Given the description of an element on the screen output the (x, y) to click on. 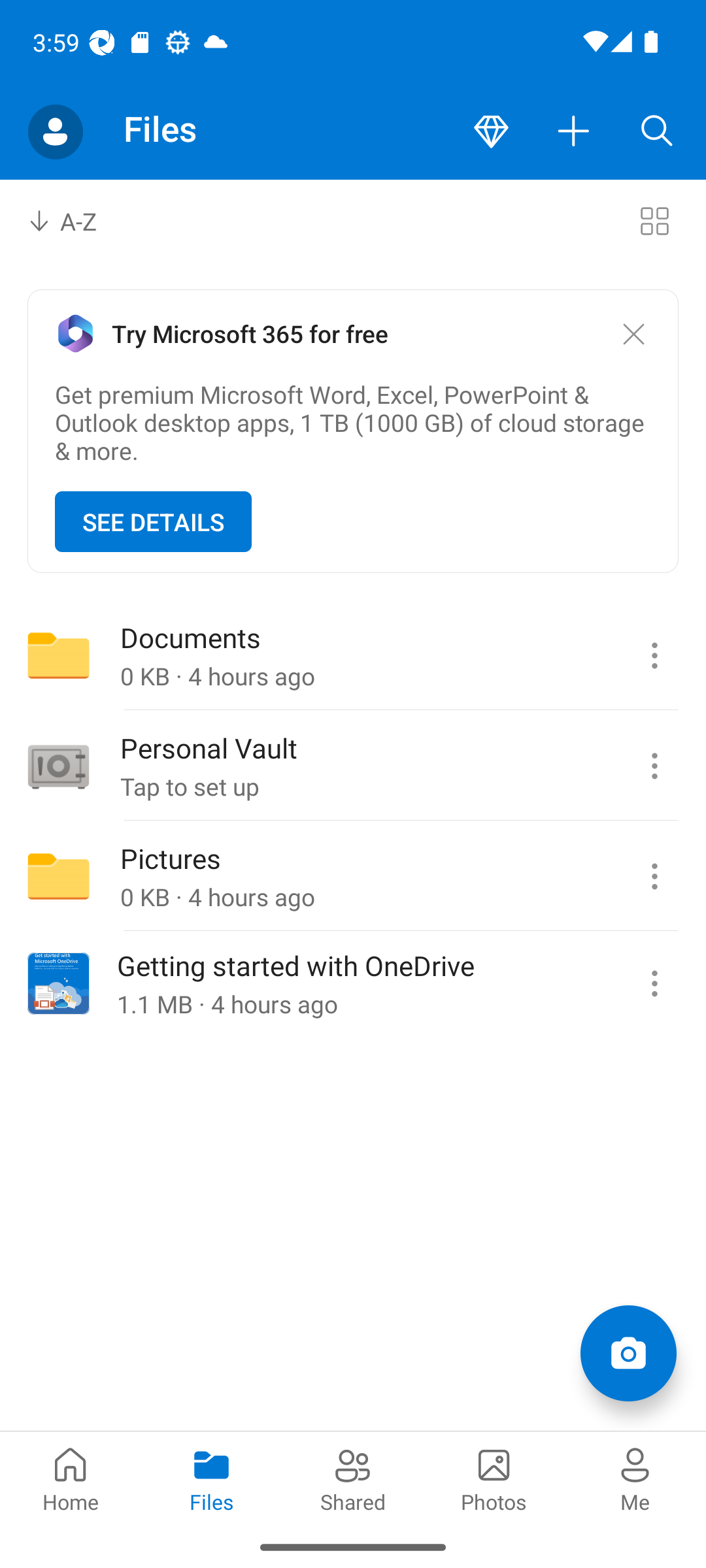
Account switcher (55, 131)
Premium button (491, 131)
More actions button (574, 131)
Search button (656, 131)
A-Z Sort by combo box, sort by name, A to Z (76, 220)
Switch to tiles view (654, 220)
Close (633, 334)
SEE DETAILS (153, 520)
Documents commands (654, 655)
Personal Vault commands (654, 765)
Pictures commands (654, 876)
Getting started with OneDrive commands (654, 982)
Add items Scan (628, 1352)
Home pivot Home (70, 1478)
Shared pivot Shared (352, 1478)
Photos pivot Photos (493, 1478)
Me pivot Me (635, 1478)
